Given the description of an element on the screen output the (x, y) to click on. 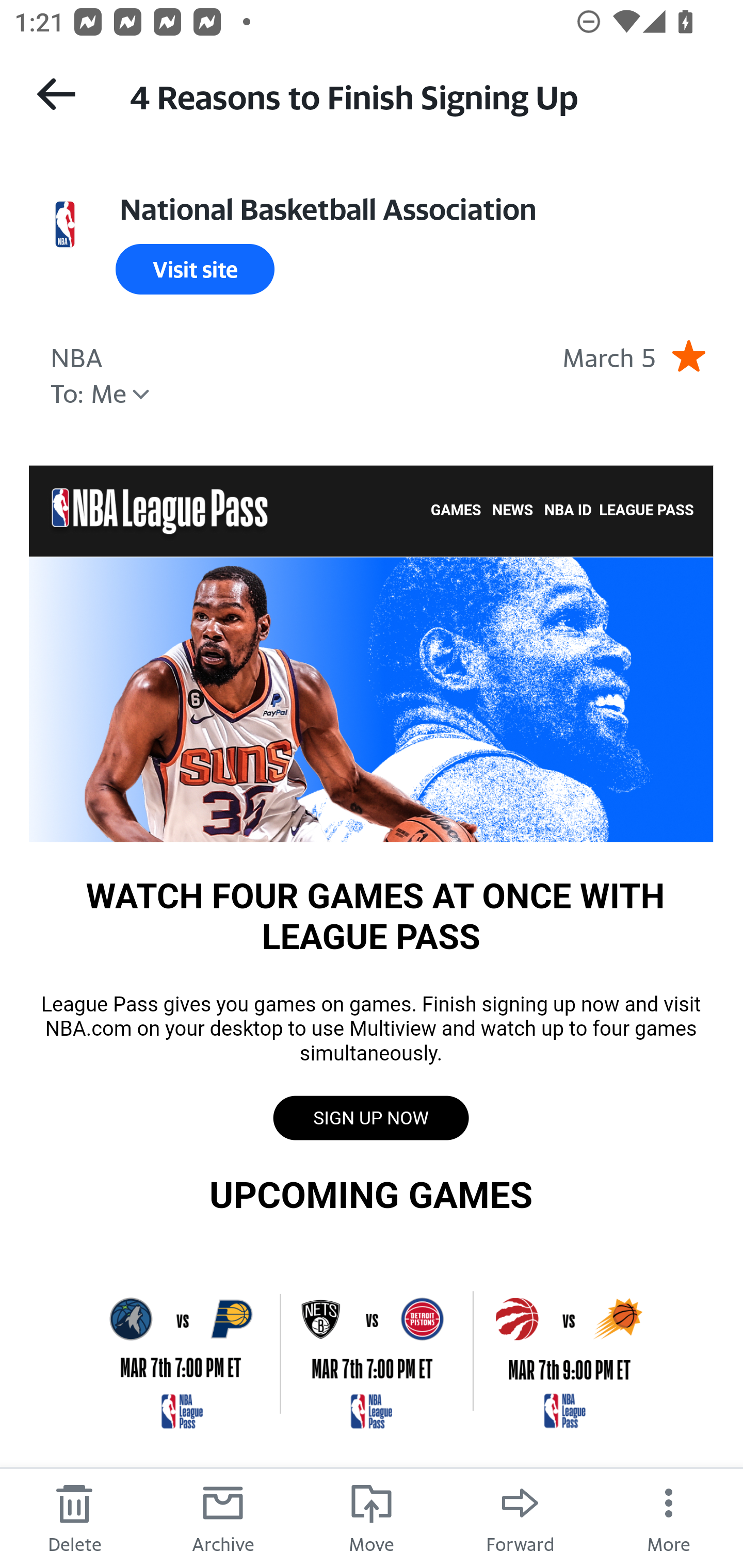
Back (55, 93)
4 Reasons to Finish Signing Up (418, 94)
View all messages from sender (64, 225)
Visit site Visit Site Link (194, 269)
NBA Sender NBA (76, 355)
Remove star. (688, 355)
GAMES (455, 510)
NEWS (512, 510)
NBA ID (567, 510)
LEAGUE PASS (645, 510)
WATCH FOUR GAMES AT ONCE WITH LEAGUE PASS (370, 698)
SIGN UP NOW (370, 1118)
Game Schedule (370, 1352)
Delete (74, 1517)
Archive (222, 1517)
Move (371, 1517)
Forward (519, 1517)
More (668, 1517)
